Given the description of an element on the screen output the (x, y) to click on. 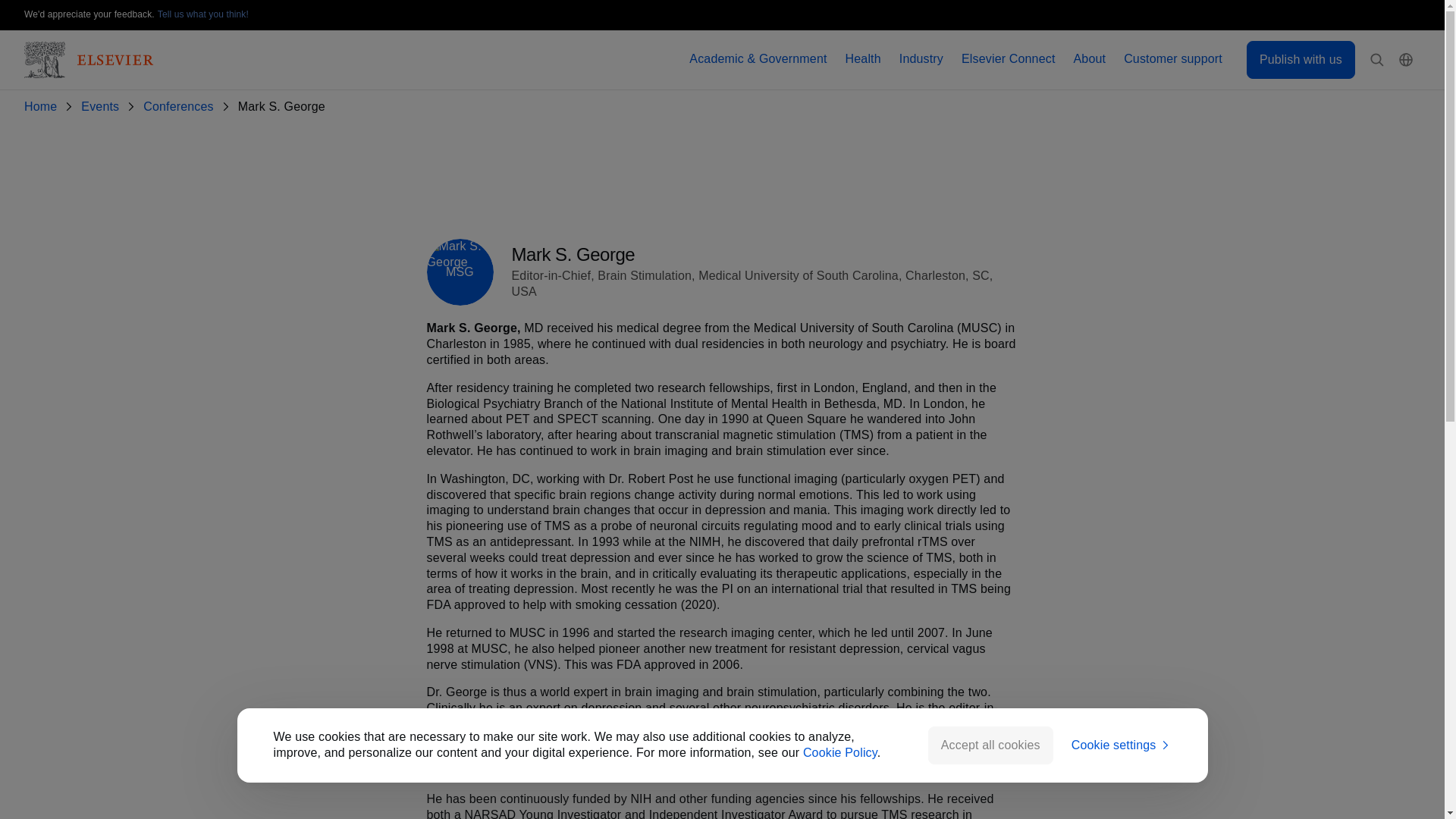
Industry (921, 59)
Location Selector (1406, 59)
Cookie Policy (840, 752)
About (1090, 59)
Cookie settings (1121, 745)
Accept all cookies (990, 745)
Home (43, 107)
Health (862, 59)
Conferences (180, 107)
Publish with us (1300, 59)
Events (103, 107)
Customer support (1173, 59)
Elsevier Connect (1007, 59)
Open Search (1376, 59)
